Given the description of an element on the screen output the (x, y) to click on. 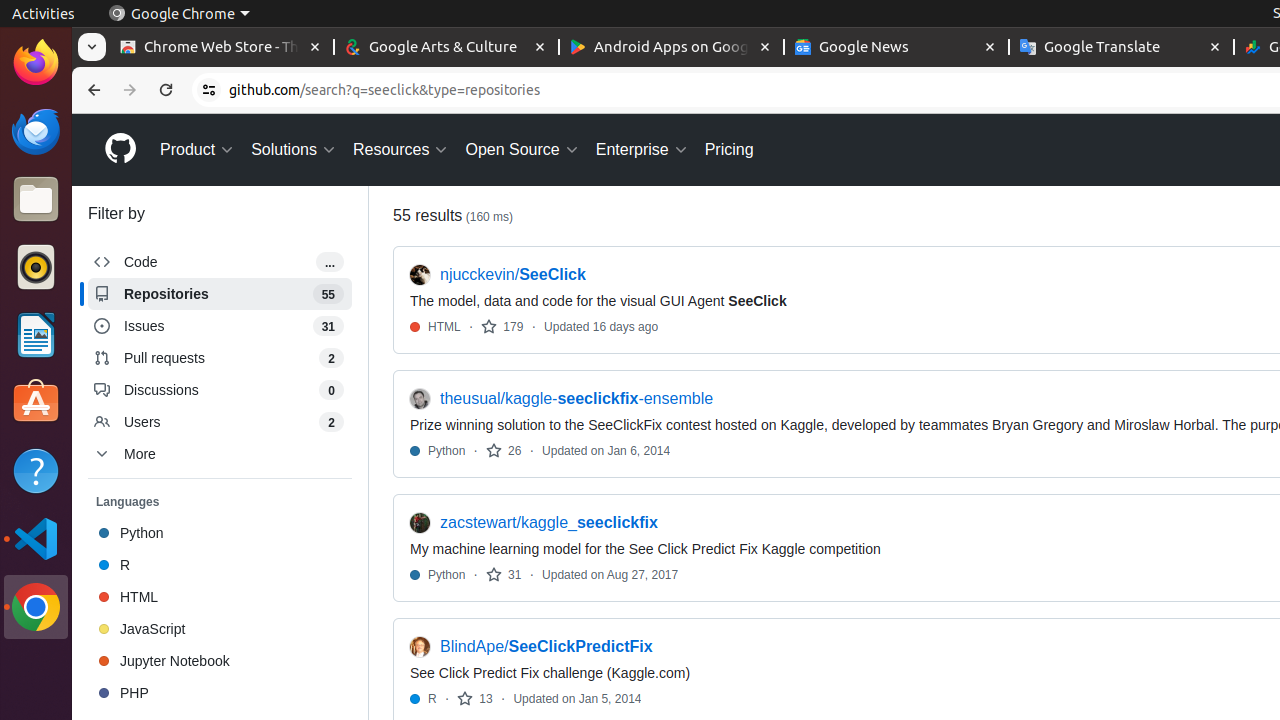
Android Apps on Google Play - Memory usage - 52.4 MB Element type: page-tab (671, 47)
Ubuntu Software Element type: push-button (36, 402)
Code , 0 results  (...) Element type: link (220, 262)
31 stars Element type: link (504, 574)
theusual/kaggle-seeclickfix-ensemble Element type: link (577, 399)
